Given the description of an element on the screen output the (x, y) to click on. 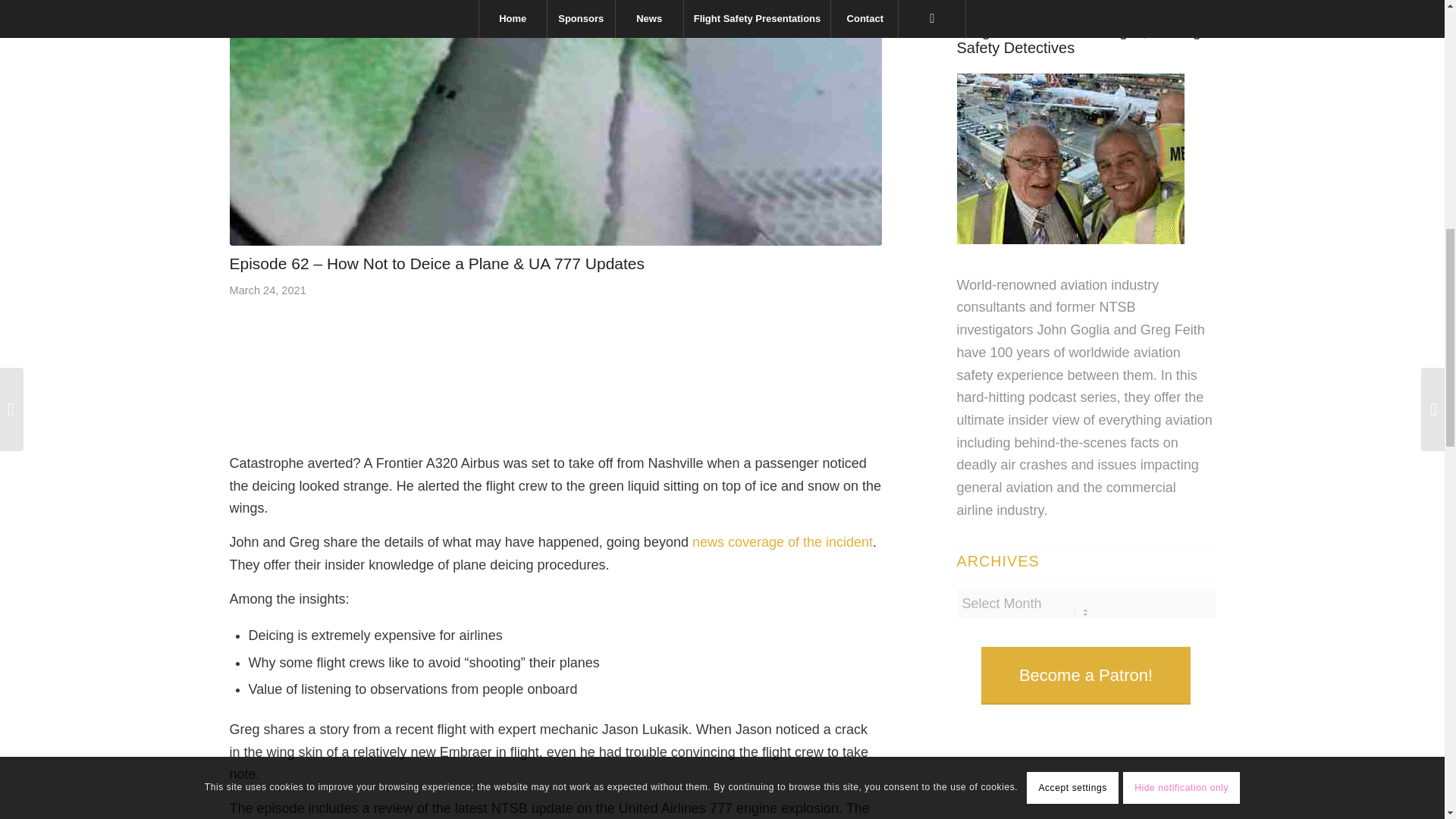
news coverage of the incident (782, 541)
Become a Patron! (1086, 675)
